Given the description of an element on the screen output the (x, y) to click on. 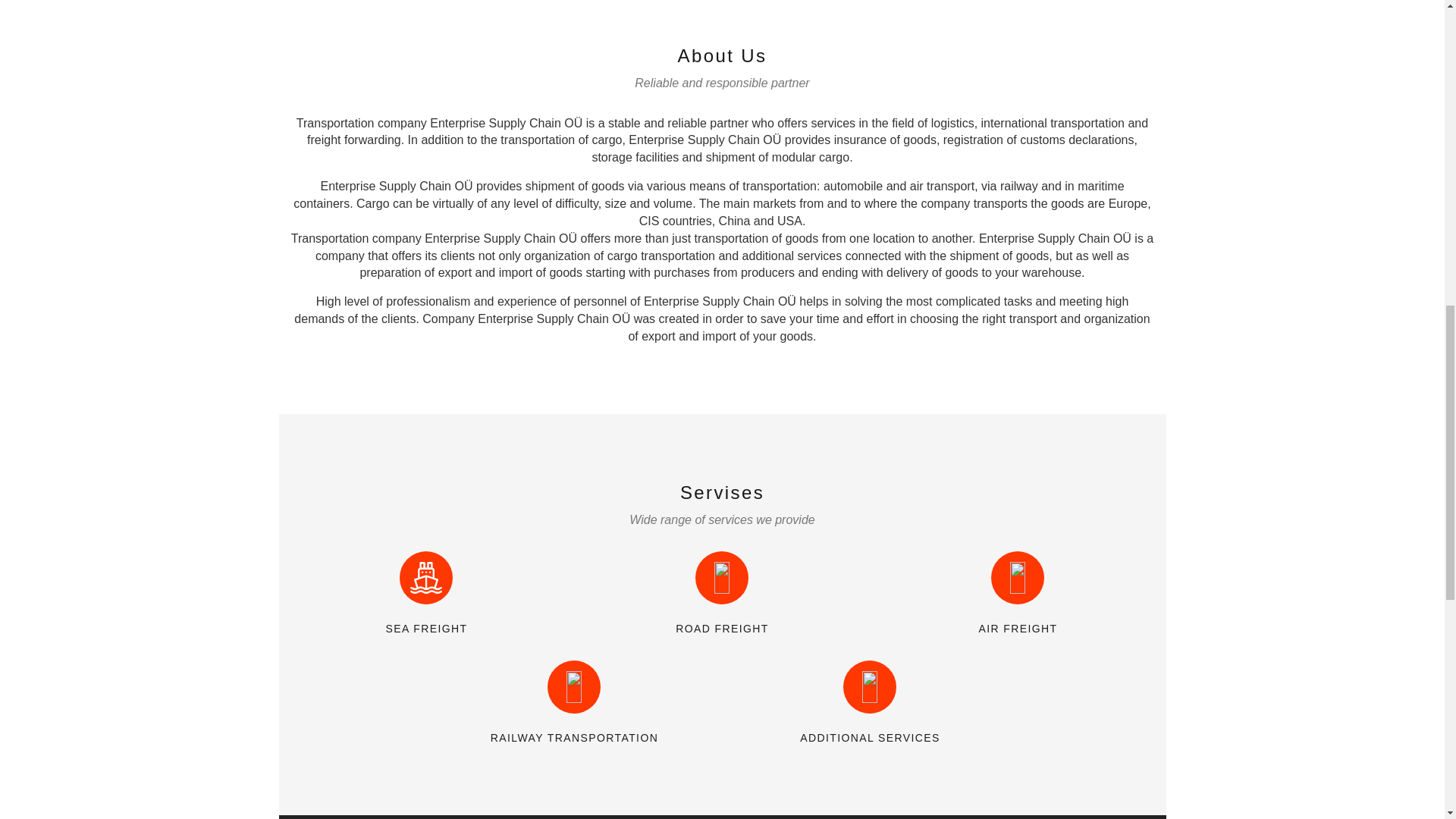
AIR FREIGHT (1017, 628)
RAILWAY TRANSPORTATION (574, 737)
ROAD FREIGHT (722, 628)
SEA FREIGHT (425, 628)
ADDITIONAL SERVICES (869, 737)
